Given the description of an element on the screen output the (x, y) to click on. 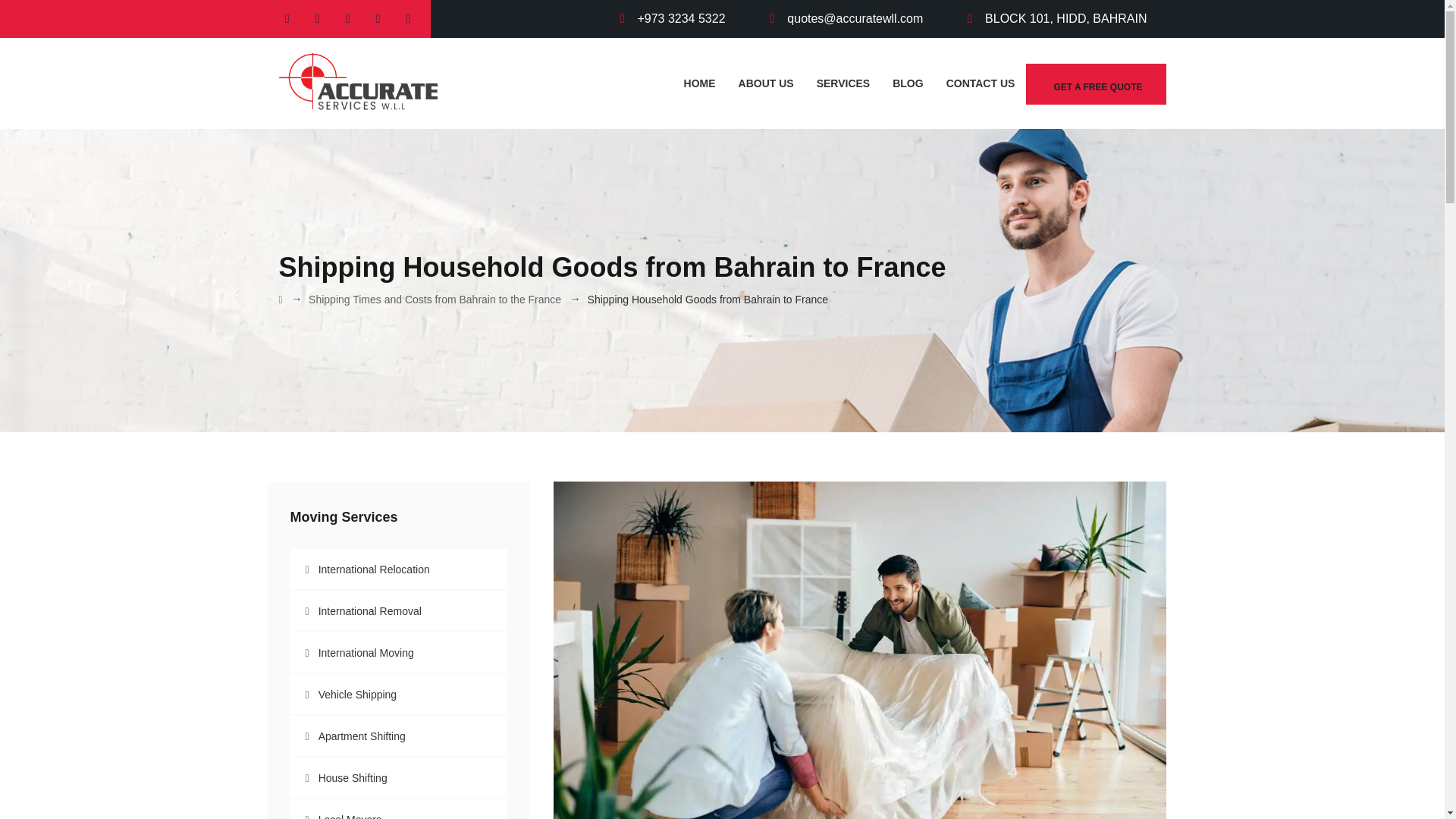
Shipping Times and Costs from Bahrain to the France (434, 299)
GET A FREE QUOTE (1096, 83)
Go to Shipping Times and Costs from Bahrain to the France. (434, 299)
Accurate Services WLL (358, 82)
